Given the description of an element on the screen output the (x, y) to click on. 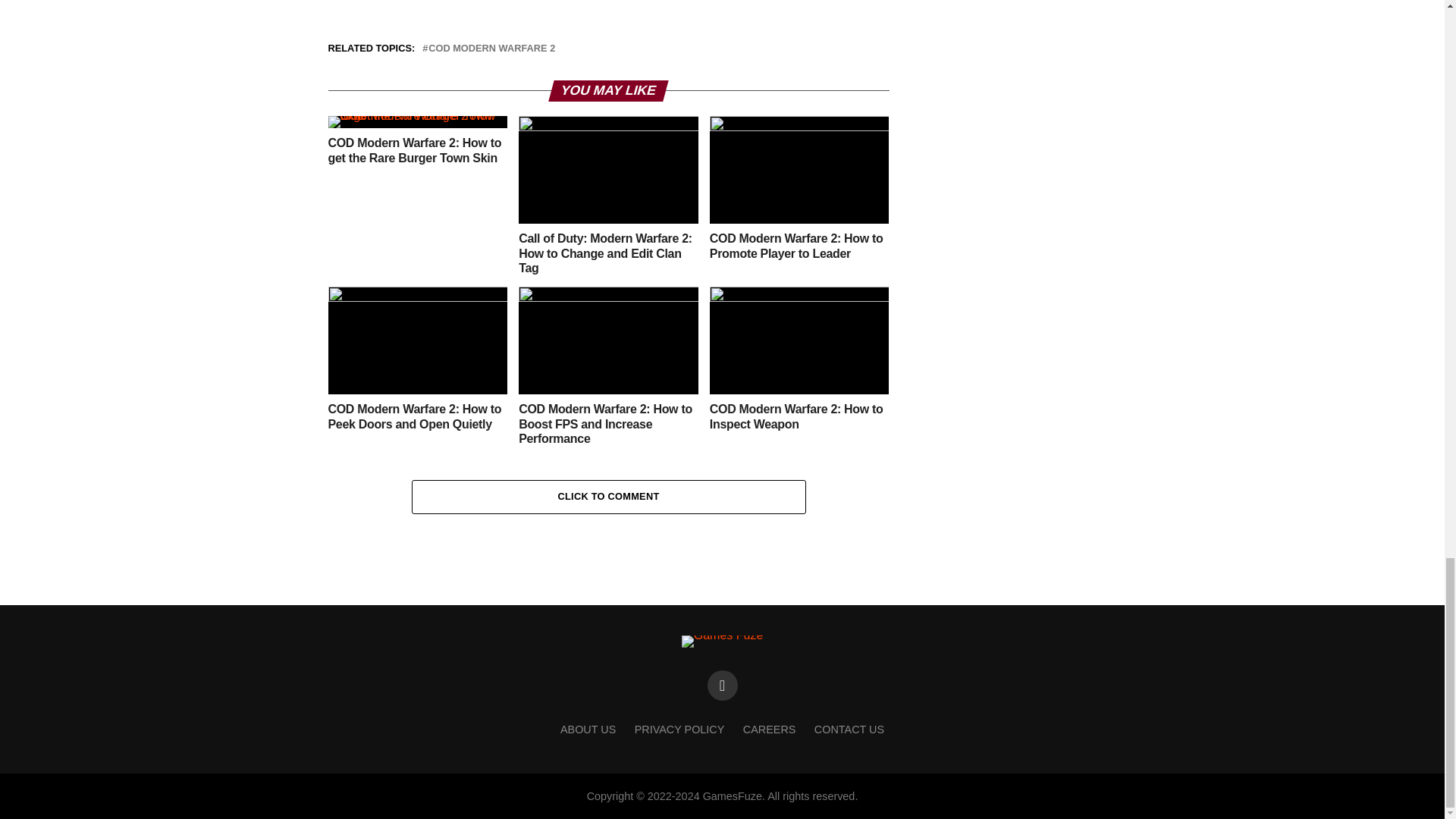
COD MODERN WARFARE 2 (491, 49)
